Given the description of an element on the screen output the (x, y) to click on. 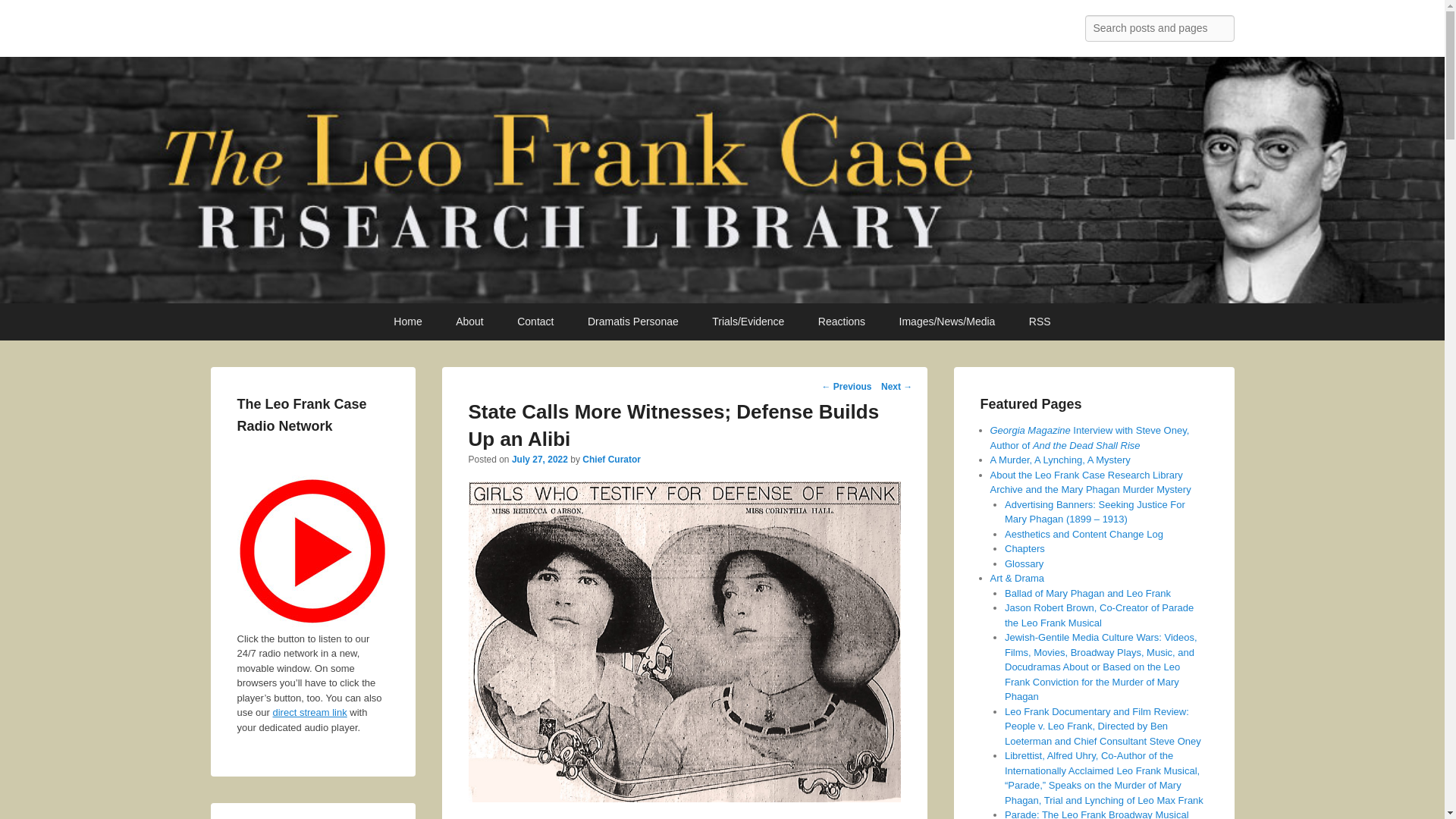
Home (407, 321)
10:37 PM (539, 459)
Click to open audio player in new, movable window (311, 551)
View all posts by Chief Curator (611, 459)
Search (24, 14)
The Leo Frank Case Research Library (455, 31)
About (470, 321)
The Leo Frank Case Research Library (455, 31)
Contact (535, 321)
Dramatis Personae (633, 321)
